Given the description of an element on the screen output the (x, y) to click on. 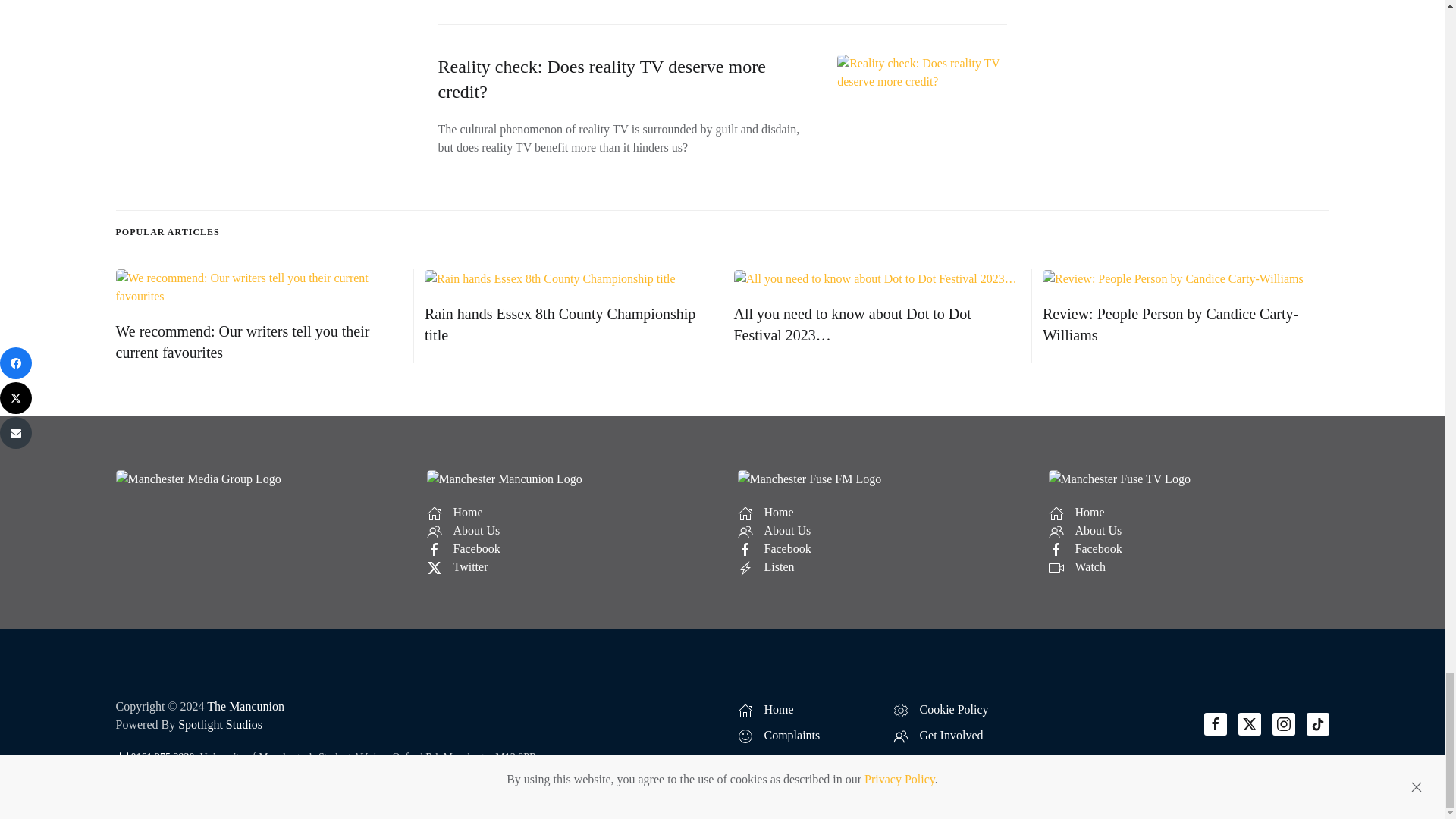
Web Design by Spotlight Studios (219, 724)
The Mancunion (244, 706)
